Given the description of an element on the screen output the (x, y) to click on. 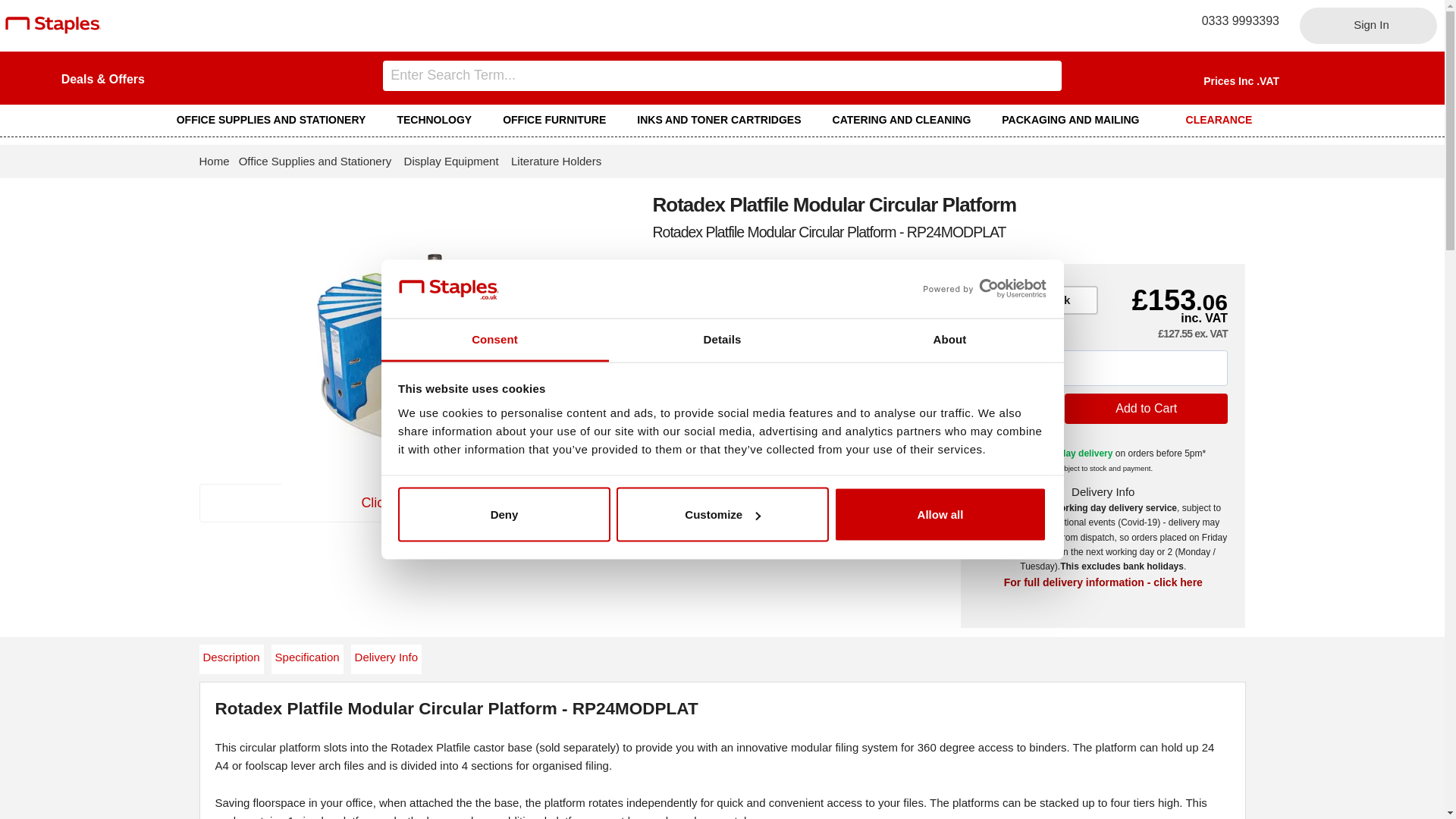
Consent (494, 339)
1 (1016, 407)
Details (721, 339)
About (948, 339)
